Given the description of an element on the screen output the (x, y) to click on. 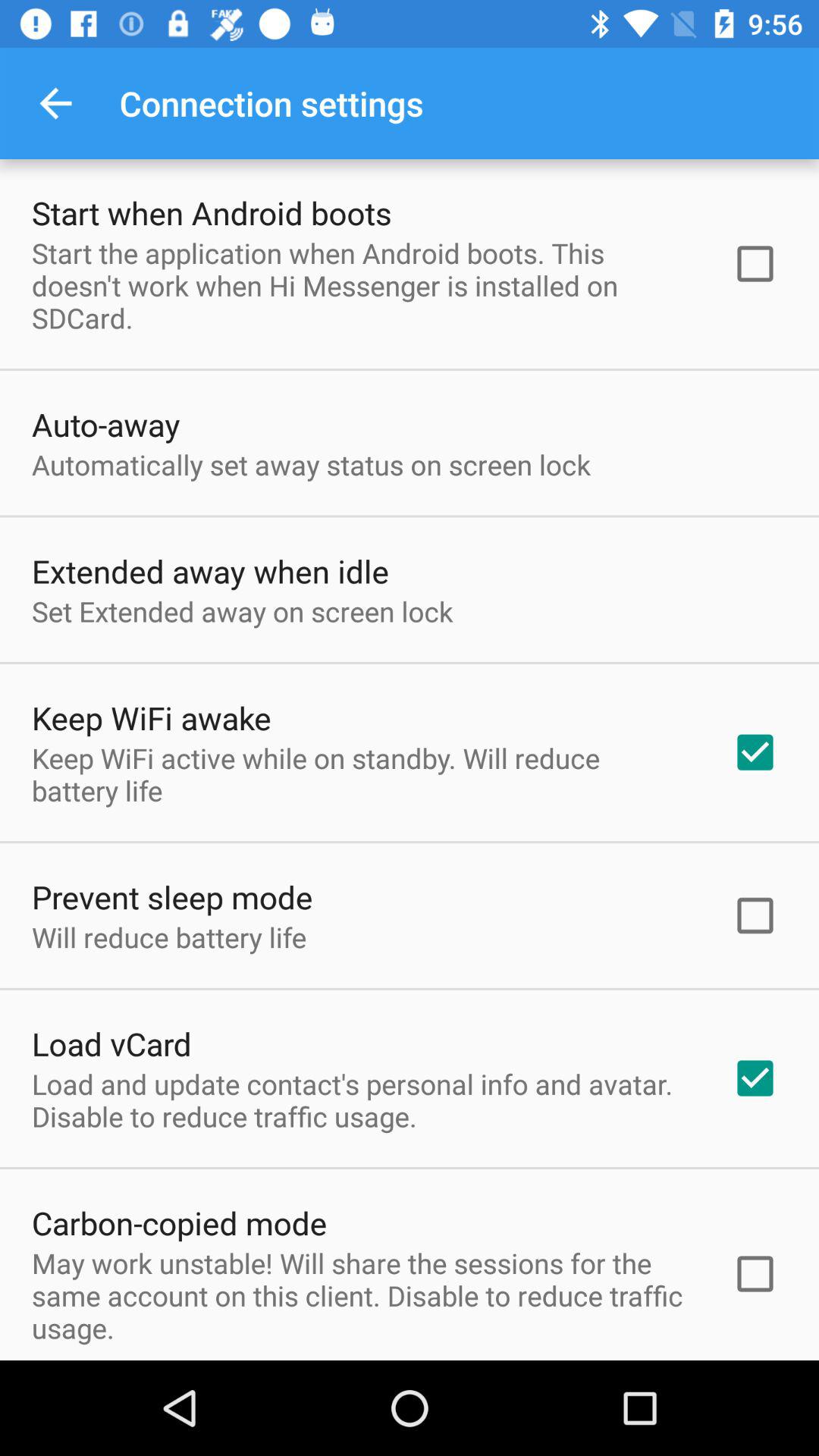
swipe until start the application item (361, 285)
